Given the description of an element on the screen output the (x, y) to click on. 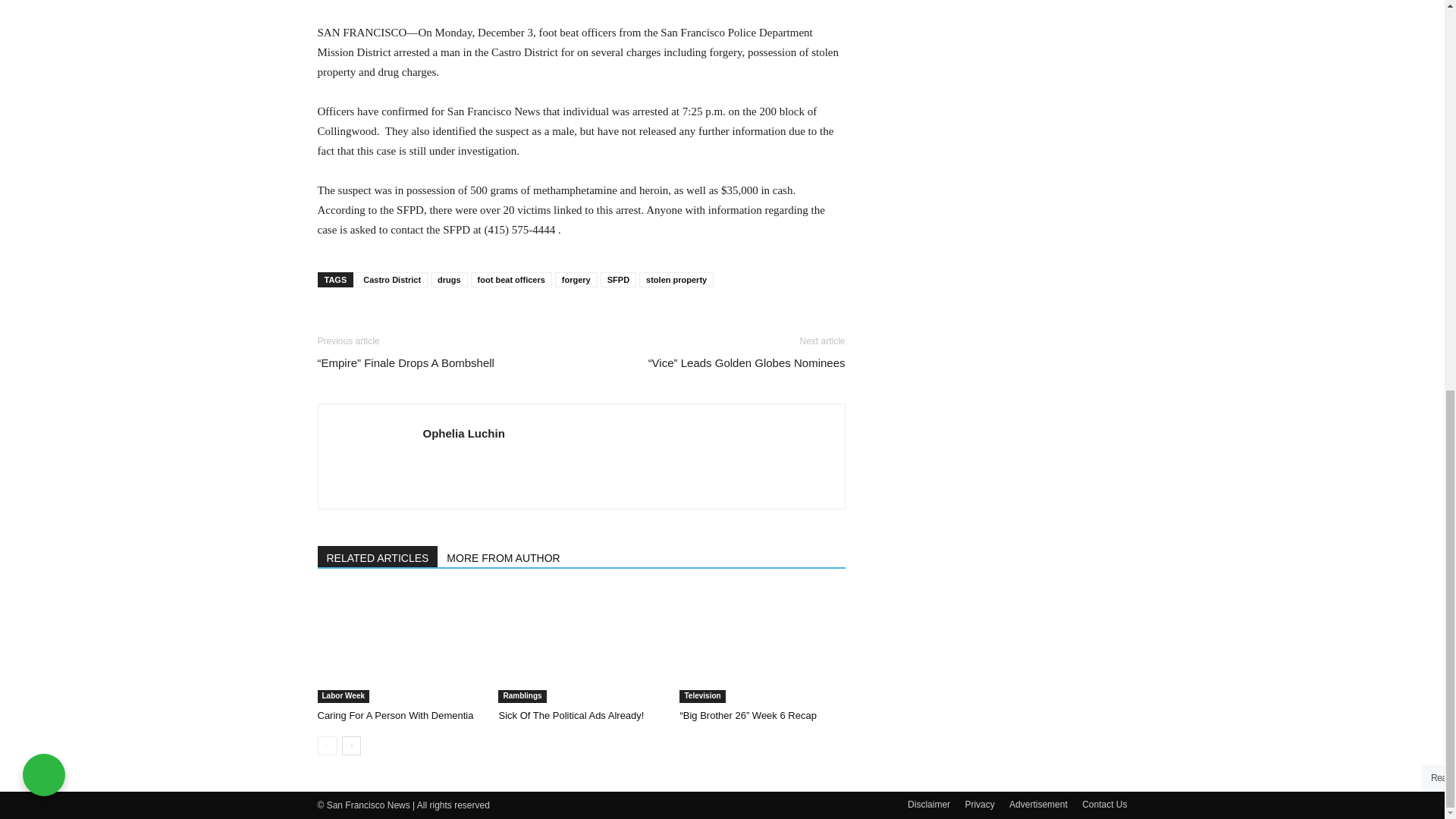
Caring For A Person With Dementia (399, 645)
Sick Of The Political Ads Already! (580, 645)
DMCA.com Protection Status (955, 496)
Caring For A Person With Dementia (395, 715)
Sick Of The Political Ads Already! (570, 715)
bottomFacebookLike (430, 320)
